Given the description of an element on the screen output the (x, y) to click on. 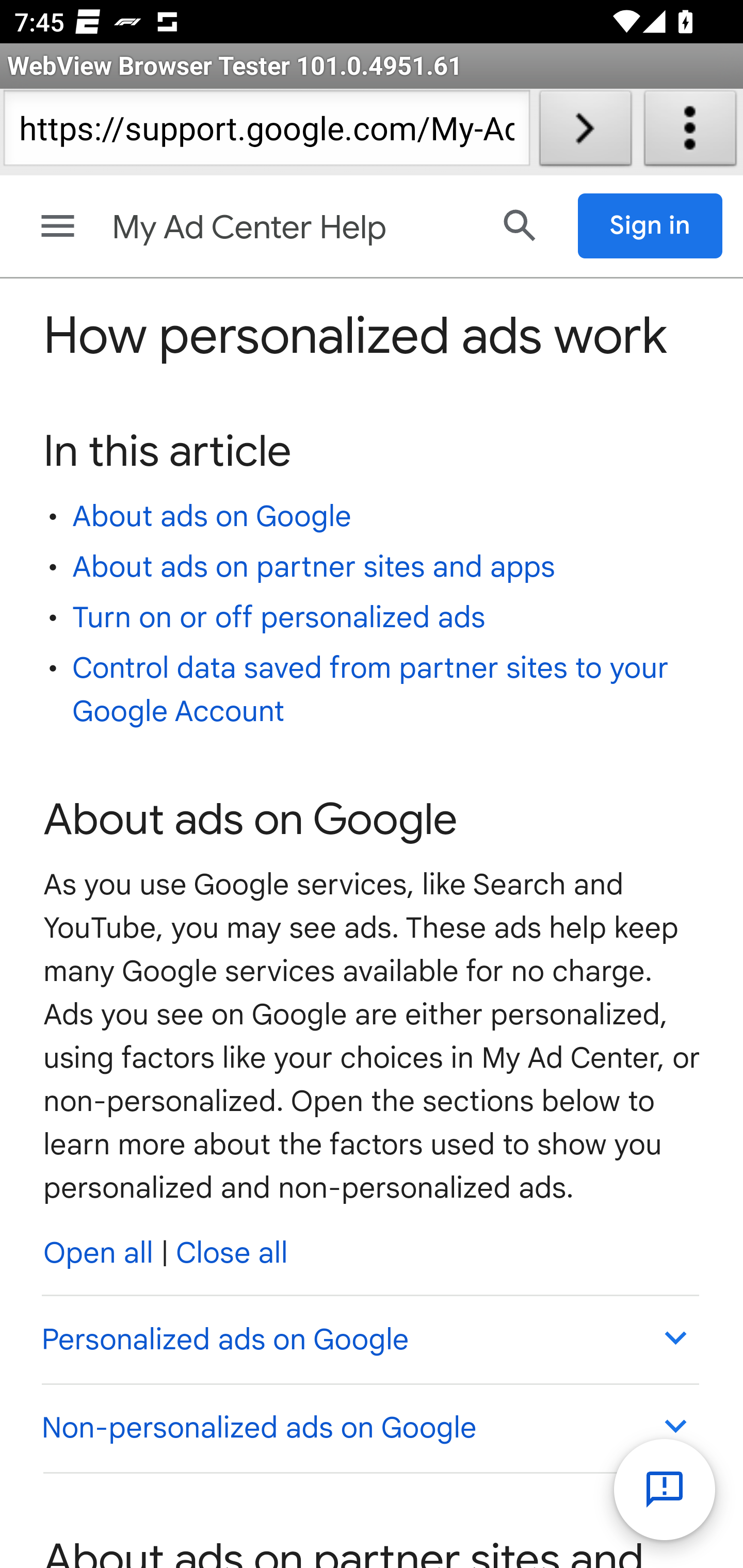
Load URL (585, 132)
About WebView (690, 132)
Main menu (58, 226)
My Ad Center Help (292, 227)
Search Help Center (519, 225)
Sign in (650, 226)
About ads on Google (212, 516)
About ads on partner sites and apps (314, 566)
Turn on or off personalized ads (278, 617)
Open all (99, 1253)
Close all (231, 1253)
Personalized ads on Google (369, 1339)
Non-personalized ads on Google (369, 1426)
